Given the description of an element on the screen output the (x, y) to click on. 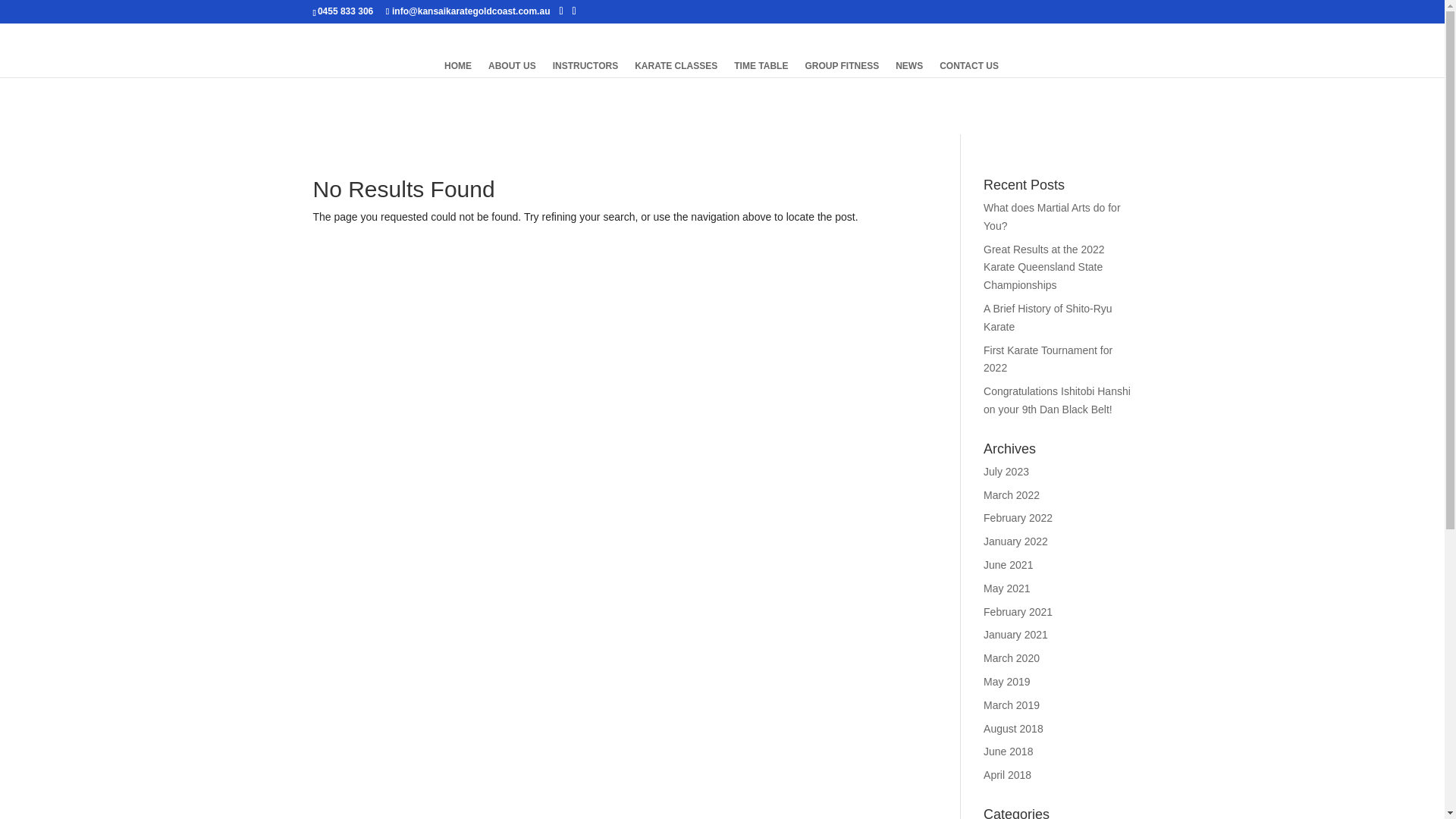
June 2021 Element type: text (1007, 564)
April 2018 Element type: text (1007, 774)
May 2019 Element type: text (1006, 681)
GROUP FITNESS Element type: text (841, 68)
March 2020 Element type: text (1011, 658)
HOME Element type: text (457, 68)
KARATE CLASSES Element type: text (675, 68)
First Karate Tournament for 2022 Element type: text (1047, 359)
August 2018 Element type: text (1013, 728)
CONTACT US Element type: text (968, 68)
March 2019 Element type: text (1011, 705)
ABOUT US Element type: text (512, 68)
INSTRUCTORS Element type: text (585, 68)
January 2022 Element type: text (1015, 541)
A Brief History of Shito-Ryu Karate Element type: text (1047, 317)
January 2021 Element type: text (1015, 634)
July 2023 Element type: text (1006, 471)
February 2021 Element type: text (1017, 611)
Congratulations Ishitobi Hanshi on your 9th Dan Black Belt! Element type: text (1056, 400)
May 2021 Element type: text (1006, 588)
What does Martial Arts do for You? Element type: text (1051, 216)
March 2022 Element type: text (1011, 495)
February 2022 Element type: text (1017, 517)
NEWS Element type: text (908, 68)
TIME TABLE Element type: text (760, 68)
info@kansaikarategoldcoast.com.au Element type: text (467, 11)
June 2018 Element type: text (1007, 751)
